Given the description of an element on the screen output the (x, y) to click on. 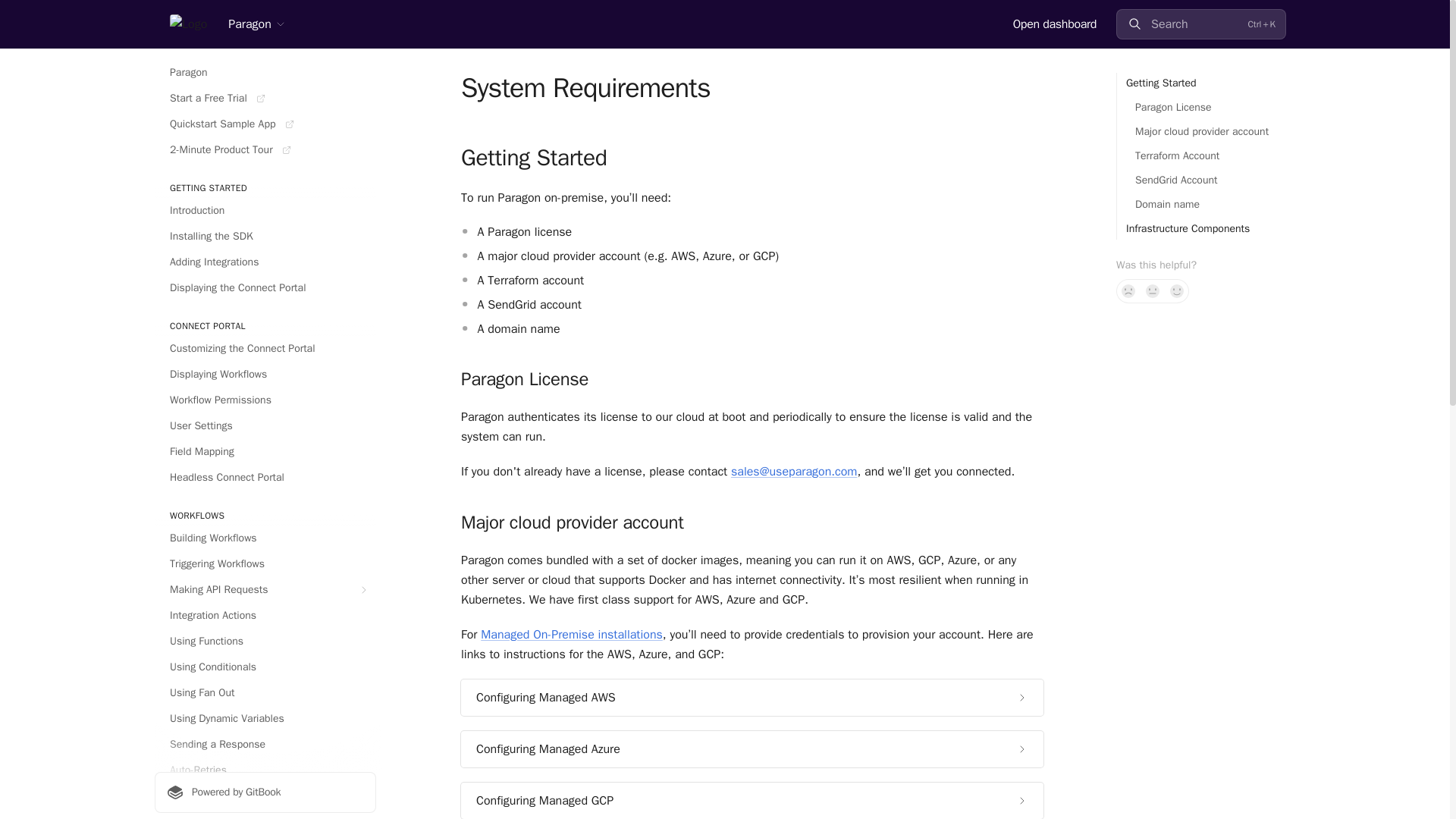
No (1128, 291)
Customizing the Connect Portal (264, 348)
Paragon (264, 72)
Displaying Workflows (264, 374)
Displaying the Connect Portal (264, 288)
Sending a Response (264, 744)
Quickstart Sample App (264, 124)
Using Functions (264, 641)
Auto-Retries (264, 770)
Not sure (1152, 291)
Field Mapping (264, 451)
Workflow Permissions (264, 400)
Using Conditionals (264, 667)
Open dashboard (1053, 24)
